Given the description of an element on the screen output the (x, y) to click on. 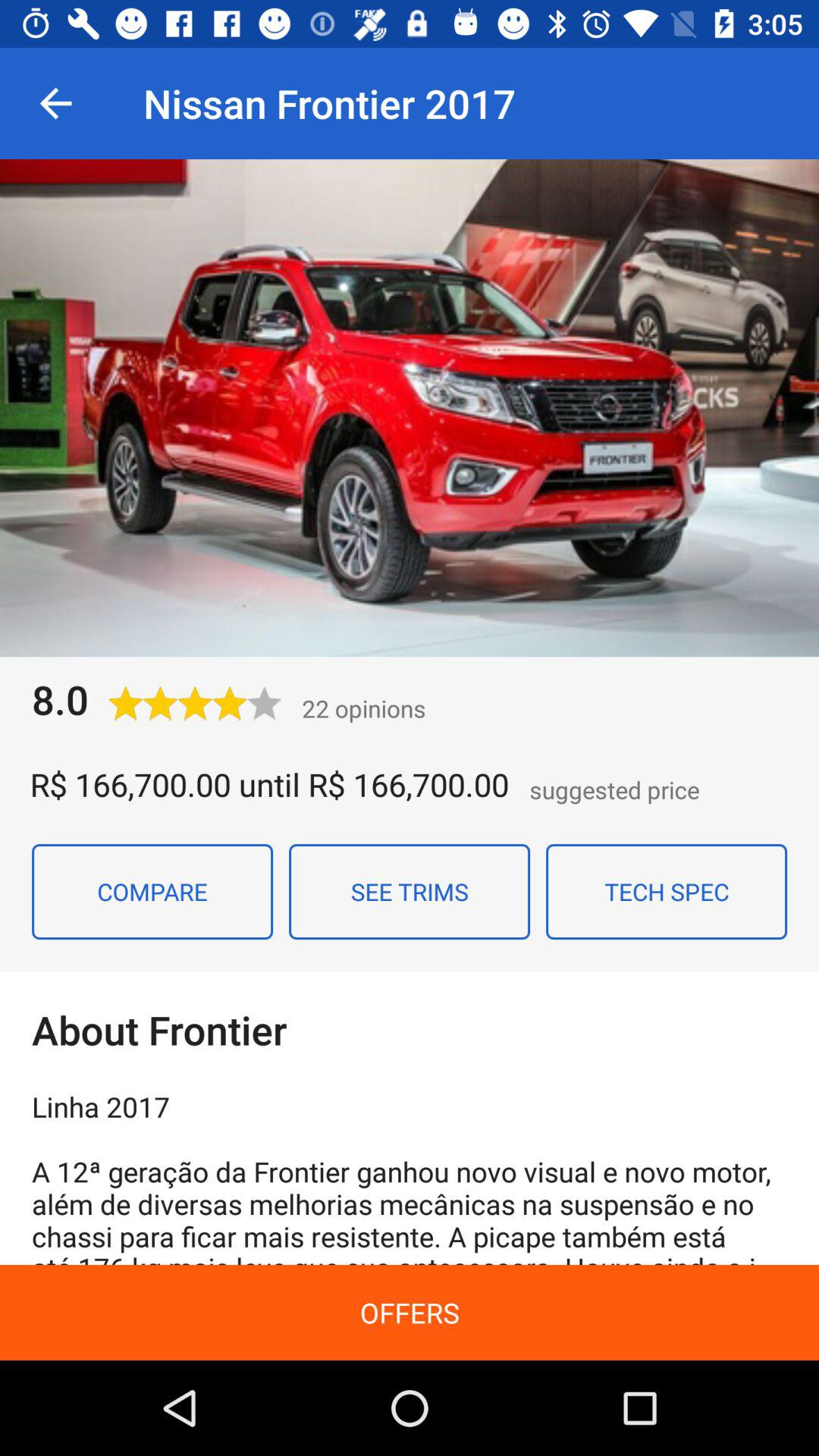
launch see trims item (409, 891)
